Given the description of an element on the screen output the (x, y) to click on. 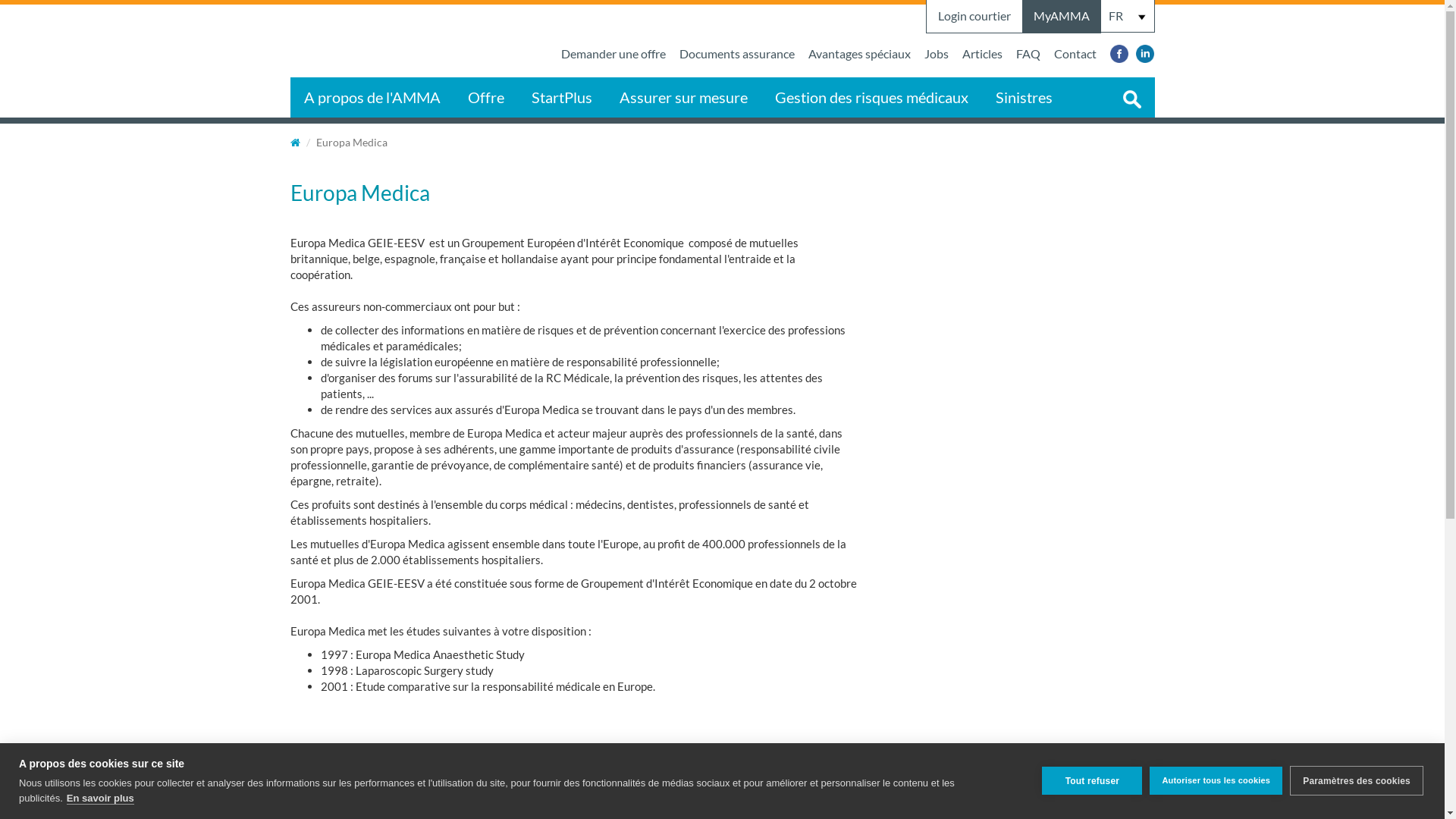
Login courtier Element type: text (973, 16)
Offre Element type: text (485, 97)
Contact Element type: text (1074, 54)
FAQ Element type: text (1027, 54)
Sinistres Element type: text (1023, 97)
MyAMMA Element type: text (1061, 16)
Demander une offre Element type: text (612, 54)
A propos de l'AMMA Element type: text (371, 97)
En savoir plus Element type: text (100, 797)
Jobs Element type: text (936, 54)
Assurer sur mesure Element type: text (682, 97)
StartPlus Element type: text (561, 97)
Tout refuser Element type: text (1091, 780)
Articles Element type: text (982, 54)
Documents assurance Element type: text (735, 54)
  Element type: text (1, 156)
Autoriser tous les cookies Element type: text (1215, 780)
